Given the description of an element on the screen output the (x, y) to click on. 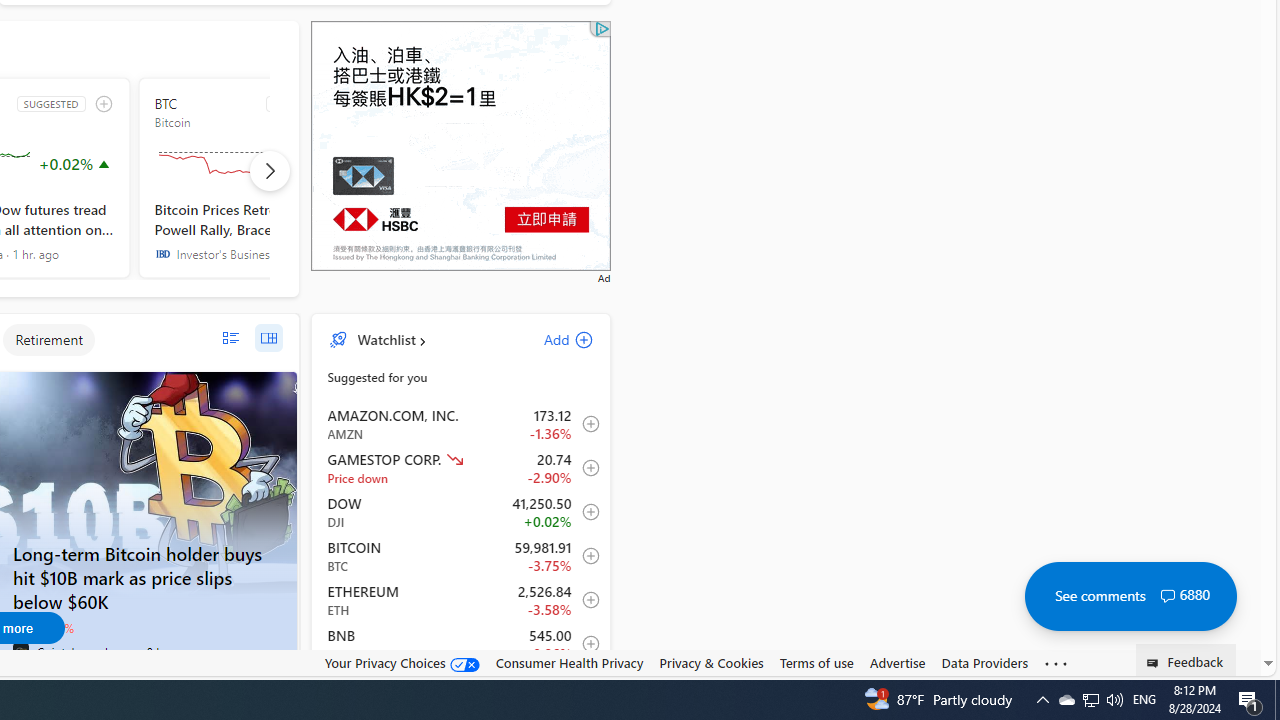
Class: cwt-icon-vector (1167, 596)
Data Providers (983, 662)
Cointelegraph.com (20, 651)
Privacy & Cookies (711, 663)
Investor's Business Daily (162, 254)
GME GAMESTOP CORP. decrease 20.74 -0.62 -2.90% item1 (461, 467)
Class: qc-adchoices-icon (602, 29)
add to watchlist (103, 103)
Terms of use (816, 663)
Class: qc-adchoices-link top-right  (600, 28)
Your Privacy Choices (401, 663)
ETH Ethereum decrease 2,526.84 -90.44 -3.58% item4 (461, 600)
Your Privacy Choices (401, 662)
